Given the description of an element on the screen output the (x, y) to click on. 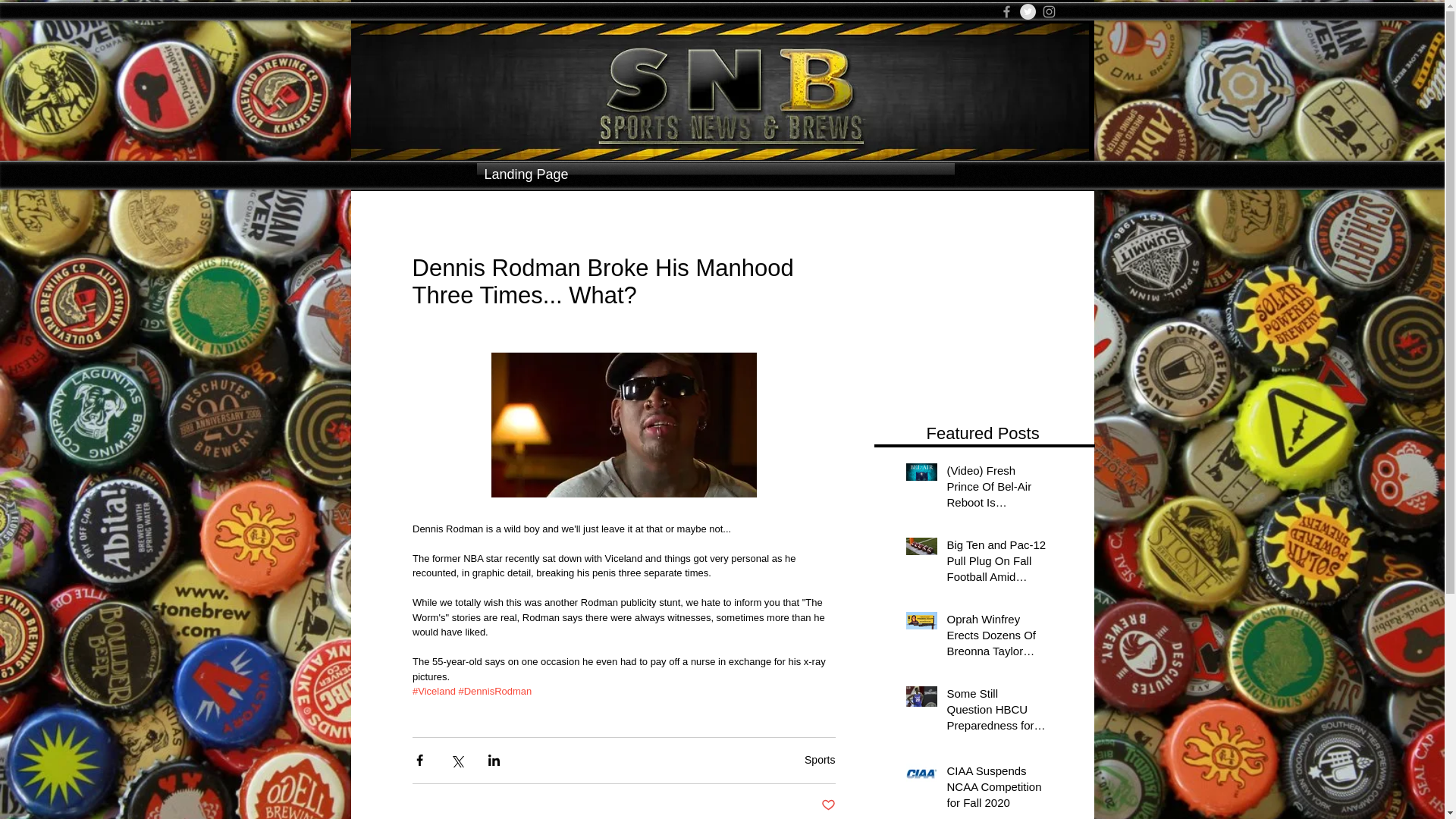
CIAA Suspends NCAA Competition for Fall 2020 (995, 789)
Post not marked as liked (827, 805)
Some Still Question HBCU Preparedness for Blue Chip Athletes (995, 712)
Big Ten and Pac-12 Pull Plug On Fall Football Amid Pandemic (995, 563)
Landing Page (714, 174)
Sports (819, 759)
